Given the description of an element on the screen output the (x, y) to click on. 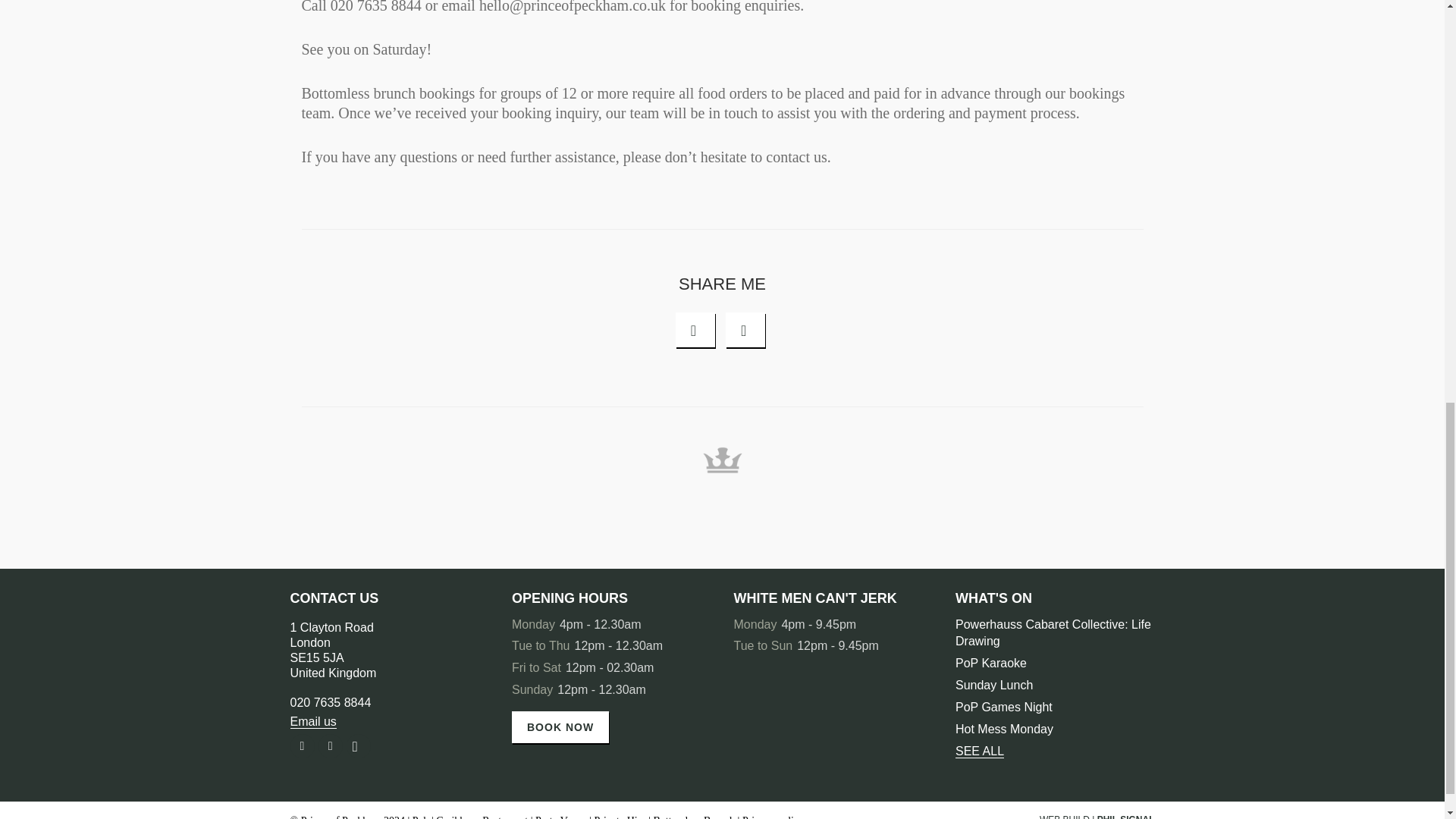
Follow us on Twitter (330, 745)
PoP Games Night (1003, 707)
Show on Google Maps (332, 649)
PoP Karaoke (990, 662)
Email us (312, 721)
Privacy policy (772, 816)
Sunday Lunch (332, 649)
Find us on Facebook (993, 684)
PHIL SIGNAL (301, 745)
Follow us on Instagram (1125, 816)
SEE ALL (358, 745)
Email us (979, 751)
020 7635 8844 (312, 721)
